Given the description of an element on the screen output the (x, y) to click on. 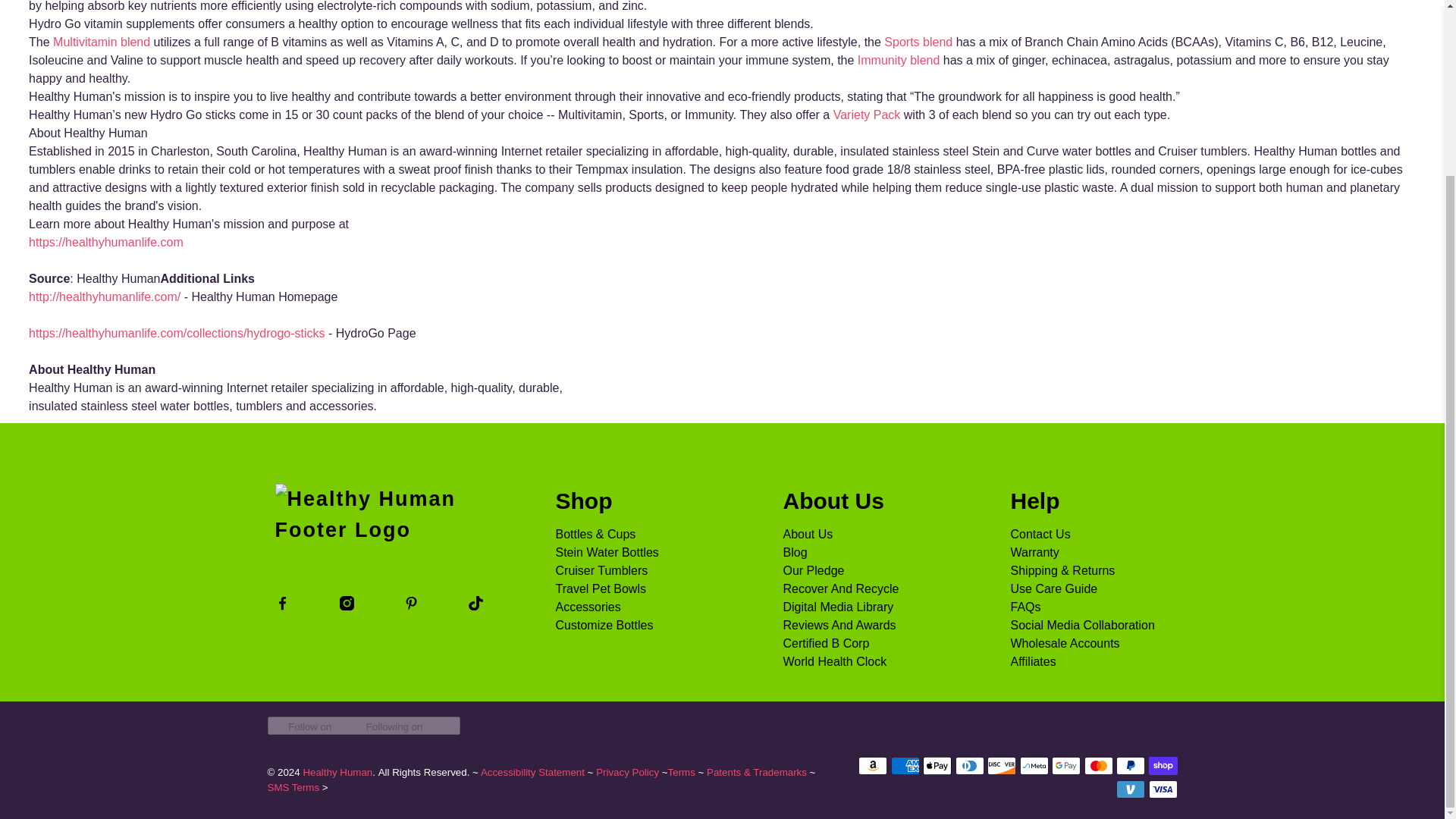
Mastercard (1098, 765)
Discover (1001, 765)
SMS Terms (292, 787)
Accessability Statement (532, 772)
Venmo (1130, 789)
Shop Pay (1162, 765)
Healthy Human on Instagram (346, 605)
Amazon (872, 765)
Healthy Human on Pinterest (411, 605)
Healthy Human (380, 531)
